Given the description of an element on the screen output the (x, y) to click on. 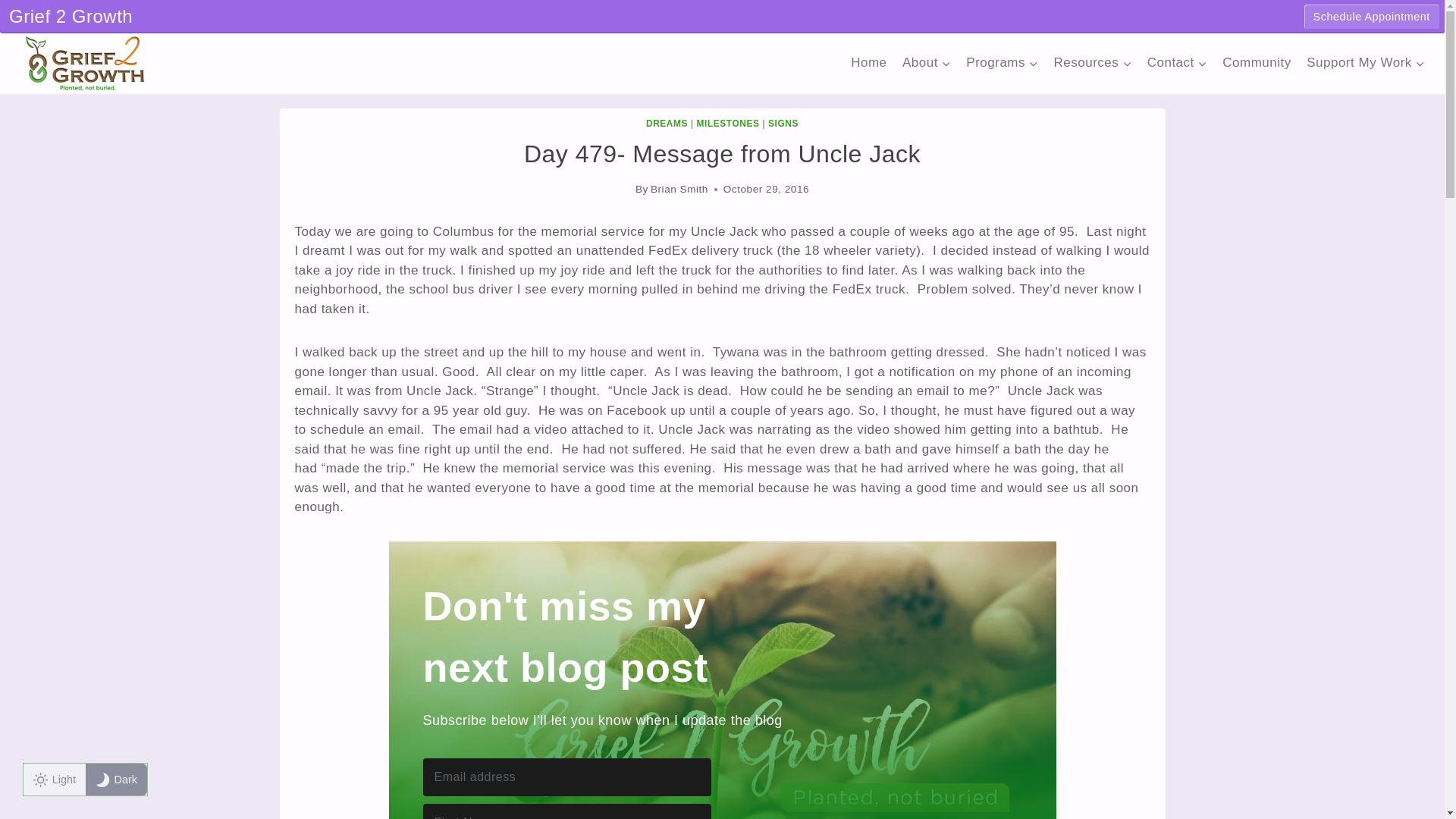
MILESTONES (728, 122)
SIGNS (782, 122)
Community (1256, 62)
Resources (1091, 62)
Programs (1001, 62)
DREAMS (666, 122)
Brian Smith (678, 188)
Home (869, 62)
Contact (1176, 62)
Support My Work (1365, 62)
About (926, 62)
